Given the description of an element on the screen output the (x, y) to click on. 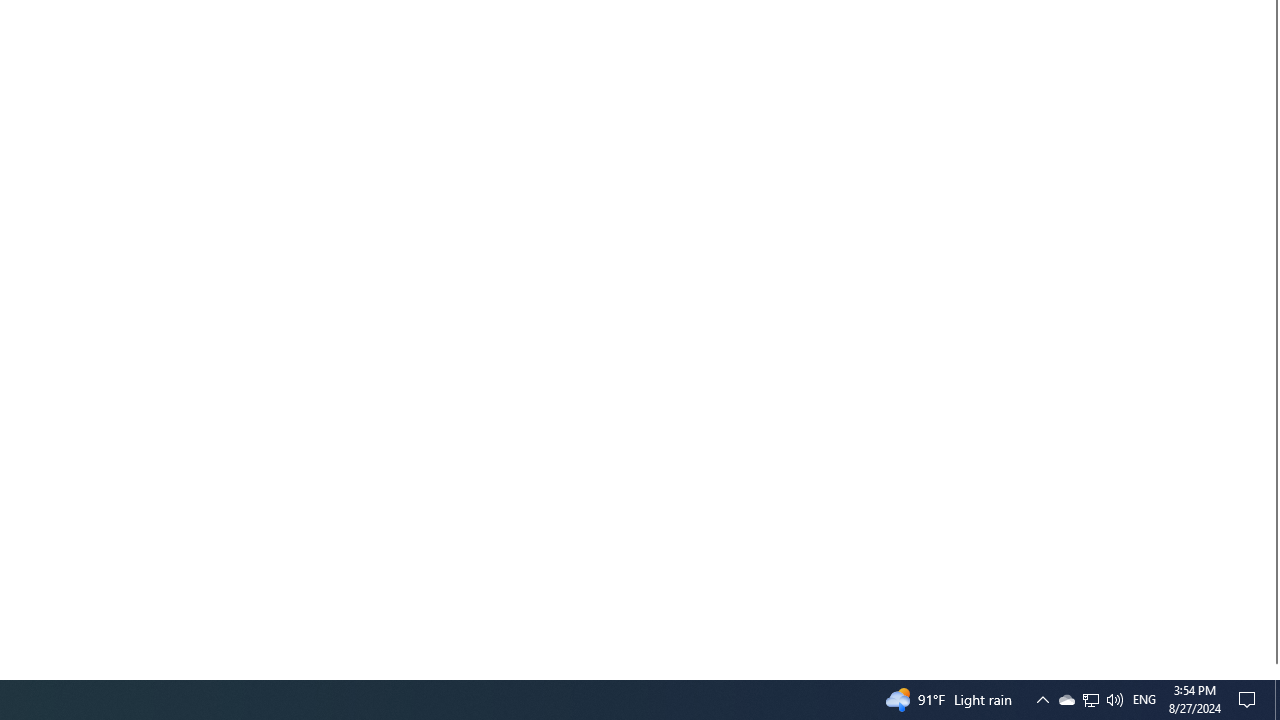
Vertical Small Increase (1272, 671)
